Given the description of an element on the screen output the (x, y) to click on. 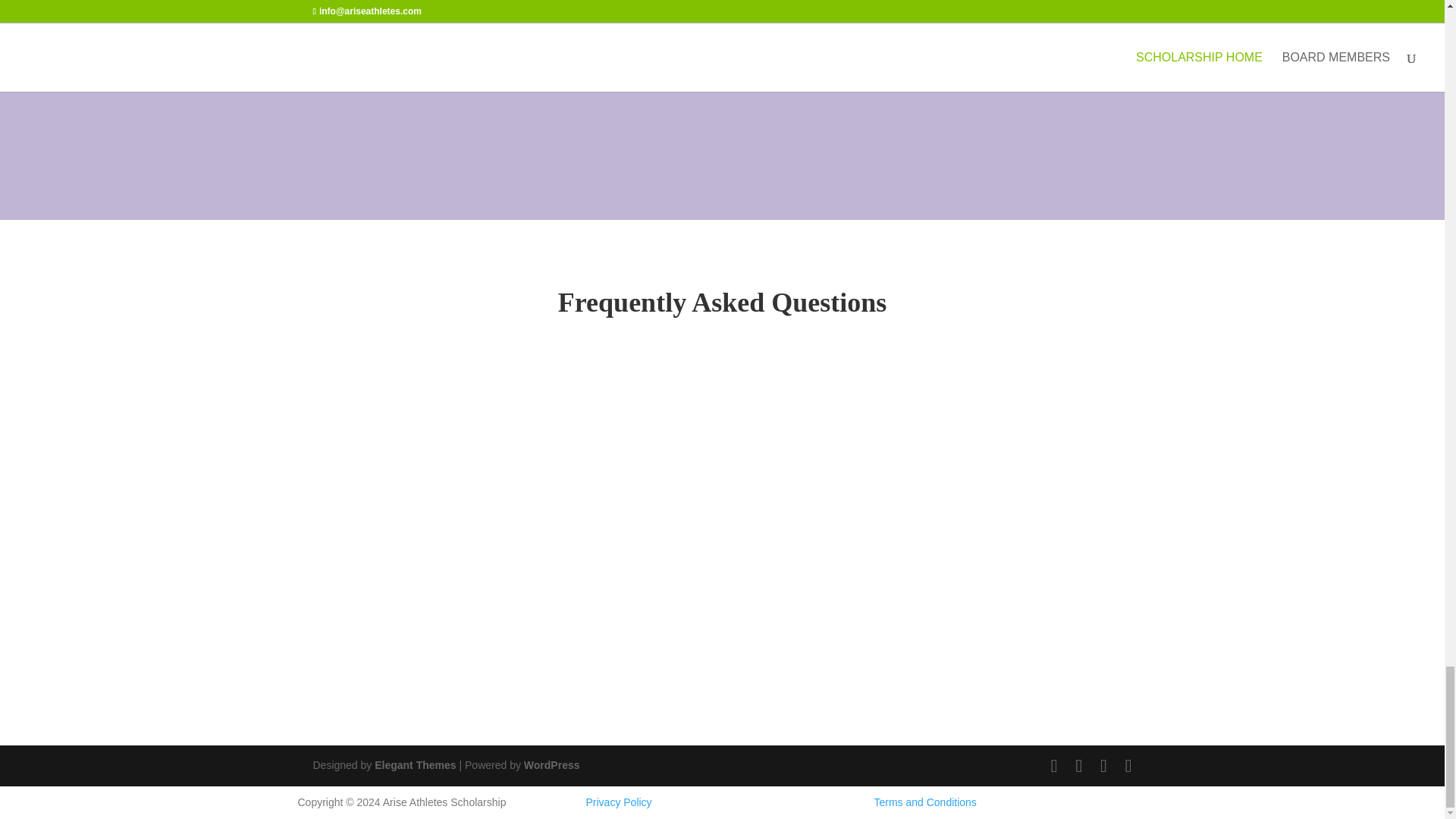
Premium WordPress Themes (414, 765)
Terms and Conditions (924, 802)
WordPress (551, 765)
Privacy Policy (617, 802)
Elegant Themes (414, 765)
